Given the description of an element on the screen output the (x, y) to click on. 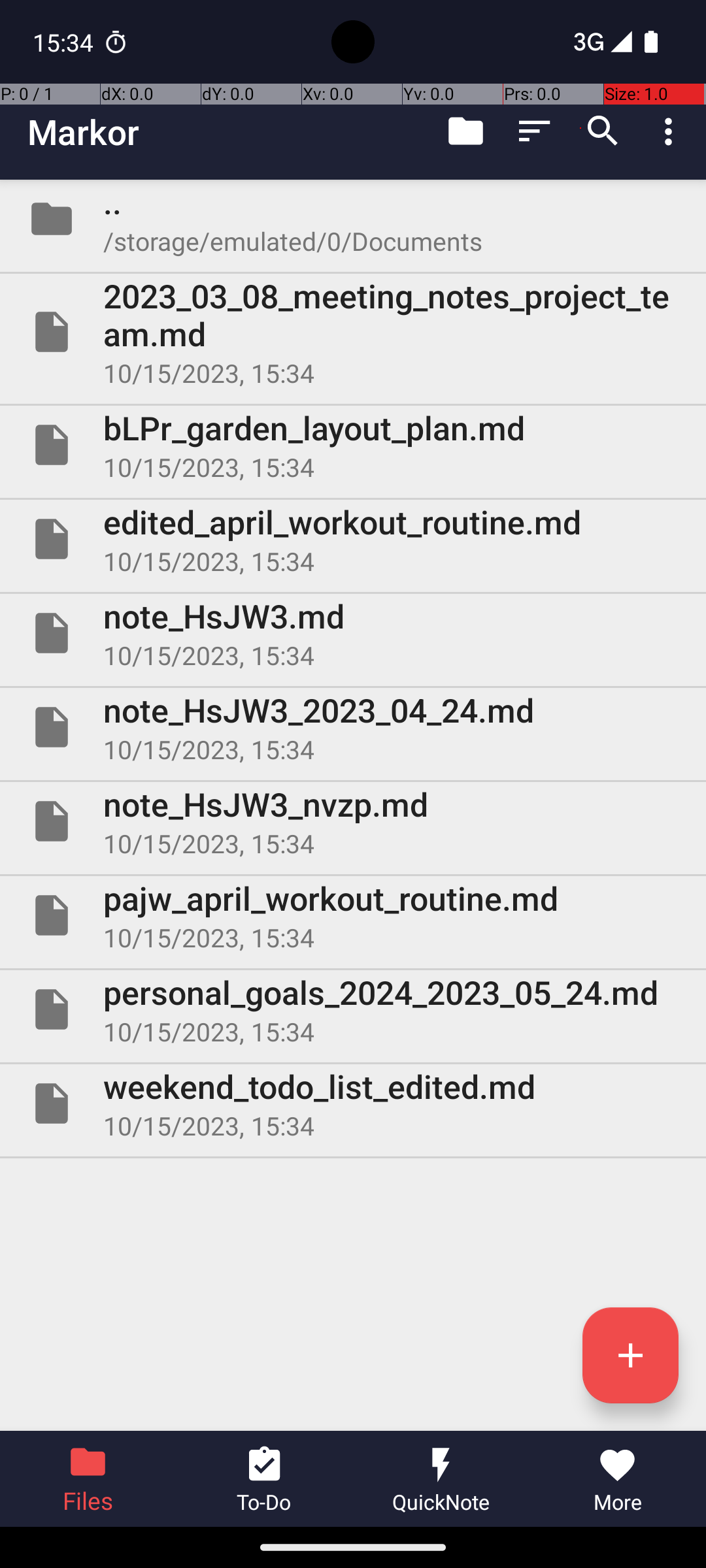
File 2023_03_08_meeting_notes_project_team.md  Element type: android.widget.LinearLayout (353, 331)
File bLPr_garden_layout_plan.md  Element type: android.widget.LinearLayout (353, 444)
File edited_april_workout_routine.md  Element type: android.widget.LinearLayout (353, 538)
File note_HsJW3.md  Element type: android.widget.LinearLayout (353, 632)
File note_HsJW3_2023_04_24.md  Element type: android.widget.LinearLayout (353, 726)
File note_HsJW3_nvzp.md  Element type: android.widget.LinearLayout (353, 821)
File pajw_april_workout_routine.md  Element type: android.widget.LinearLayout (353, 915)
File personal_goals_2024_2023_05_24.md  Element type: android.widget.LinearLayout (353, 1009)
File weekend_todo_list_edited.md  Element type: android.widget.LinearLayout (353, 1103)
